Given the description of an element on the screen output the (x, y) to click on. 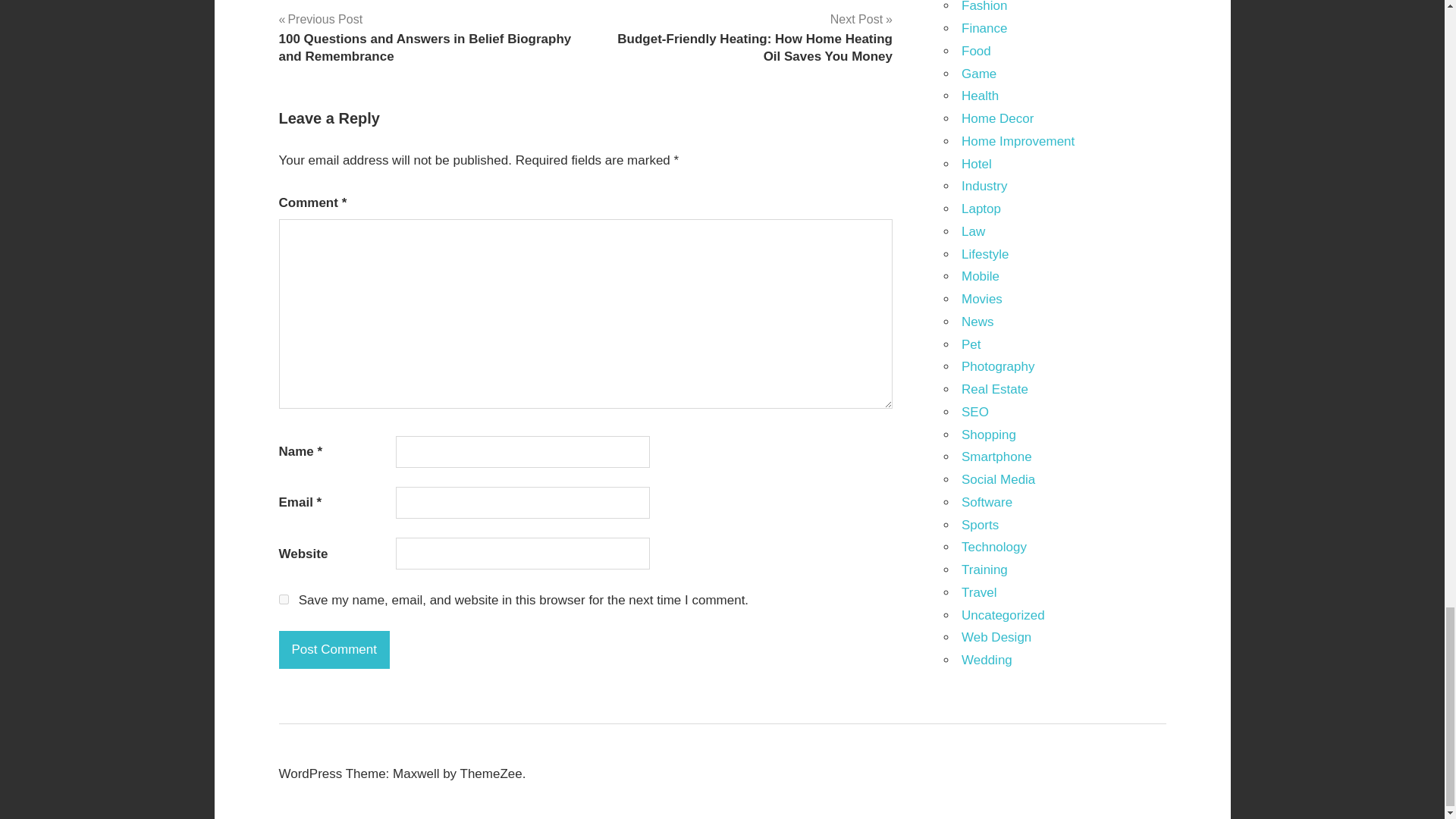
yes (283, 599)
Post Comment (334, 649)
Post Comment (334, 649)
